Given the description of an element on the screen output the (x, y) to click on. 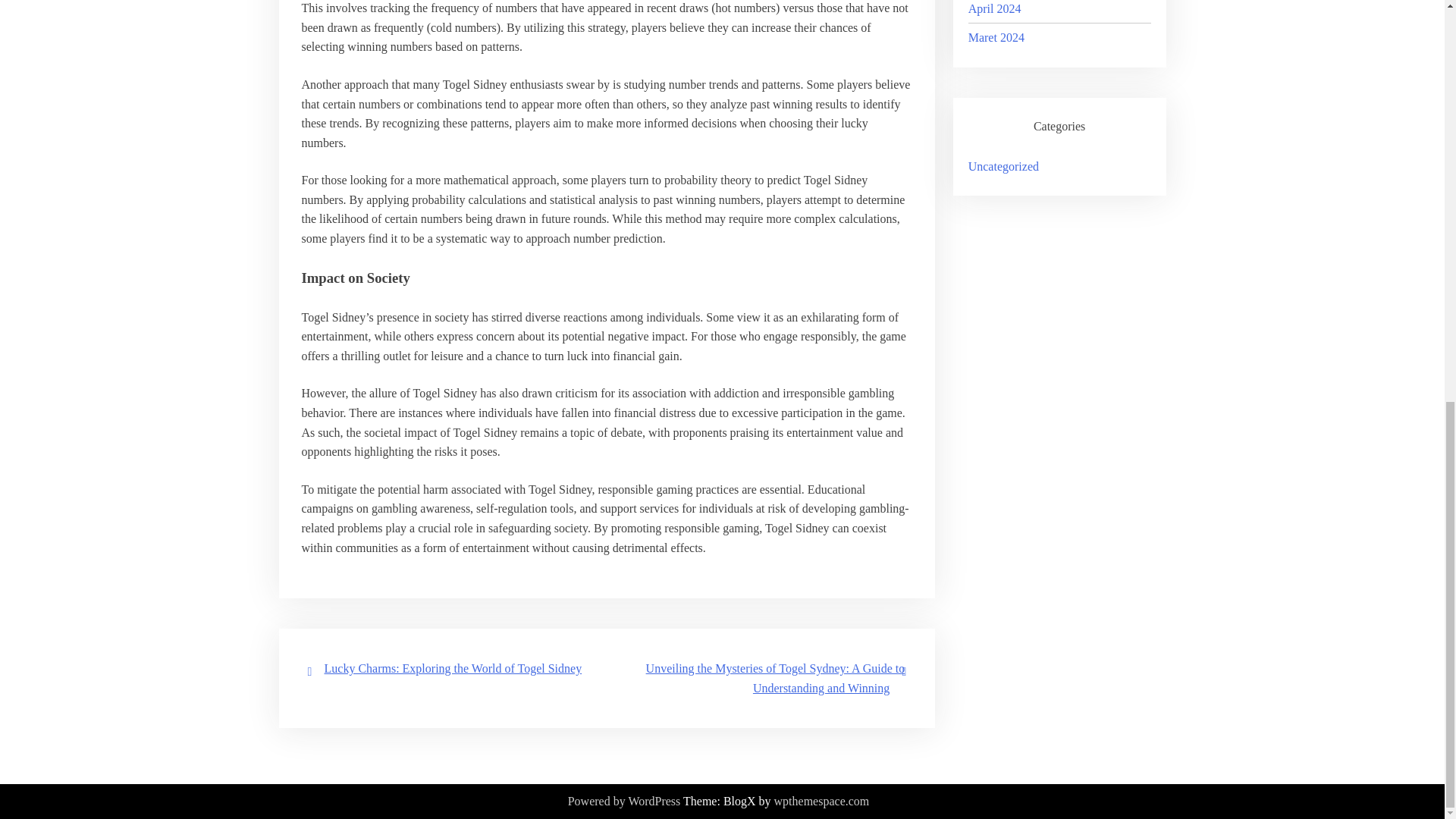
April 2024 (995, 8)
wpthemespace.com (821, 801)
Uncategorized (1003, 165)
Lucky Charms: Exploring the World of Togel Sidney (453, 667)
Powered by WordPress (624, 801)
Maret 2024 (996, 37)
